Given the description of an element on the screen output the (x, y) to click on. 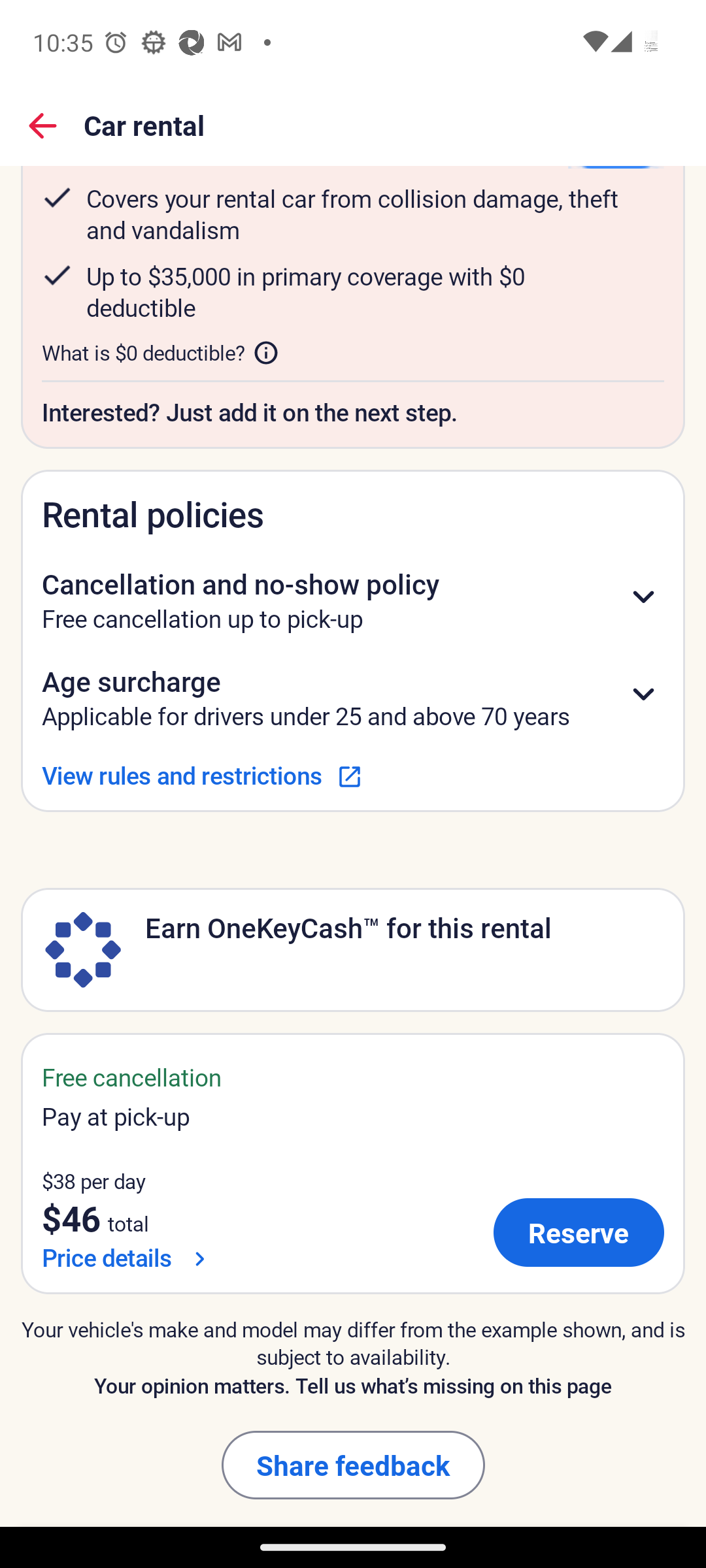
Go back to car rental search results (43, 125)
What is $0 deductible? (160, 352)
Reserve (578, 1232)
Price details Price details Link (127, 1257)
Share feedback (353, 1464)
